Given the description of an element on the screen output the (x, y) to click on. 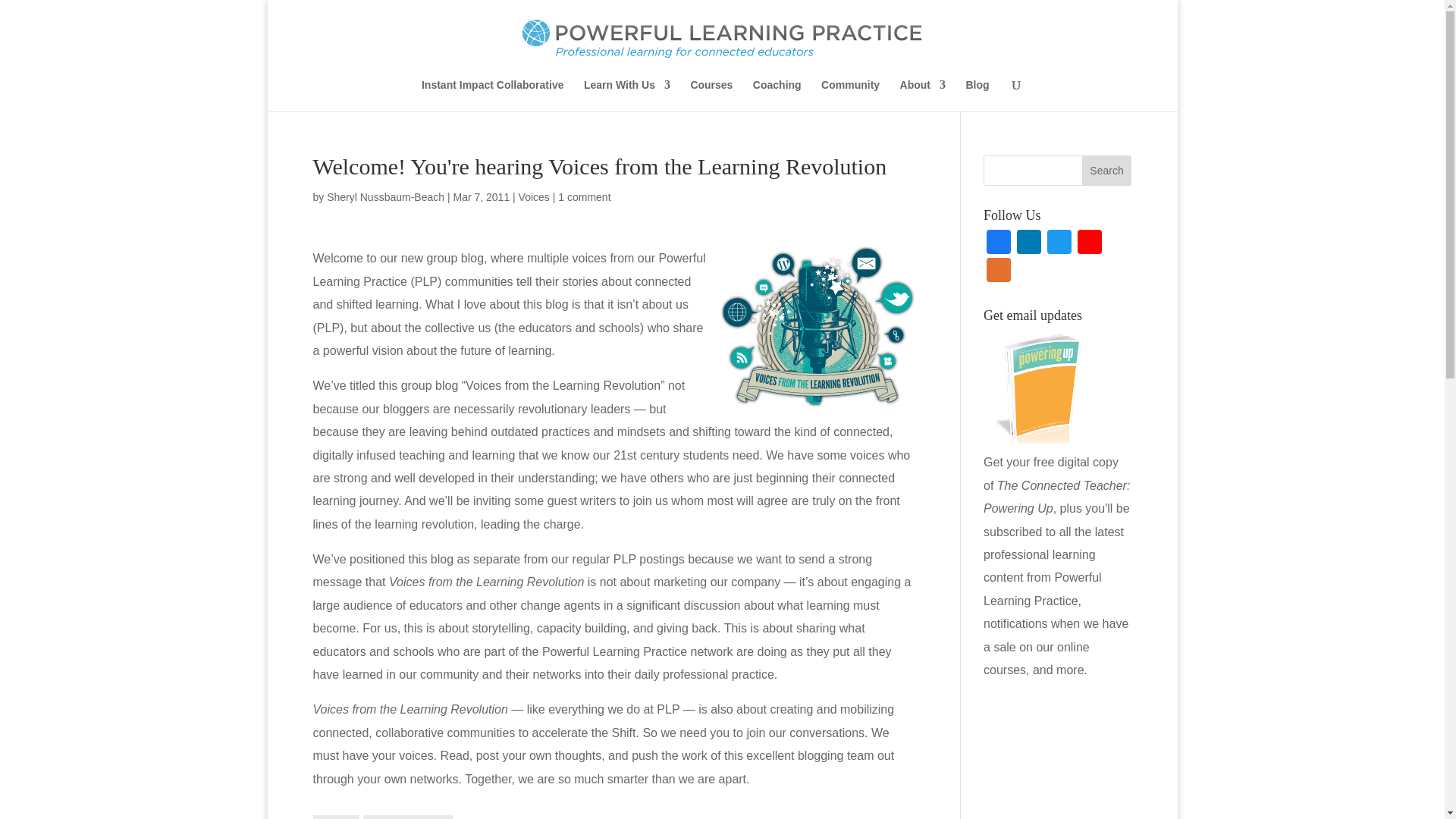
Voices (534, 196)
LinkedIn (1028, 243)
Courses (711, 95)
Posts by Sheryl Nussbaum-Beach (385, 196)
Facebook (998, 243)
Search (1106, 170)
Instant Impact Collaborative (492, 95)
YouTube Channel (1089, 243)
Coaching (777, 95)
Learn With Us (626, 95)
Sheryl Nussbaum-Beach (385, 196)
Community (850, 95)
voices-logo (817, 326)
Bio (336, 816)
About (921, 95)
